Given the description of an element on the screen output the (x, y) to click on. 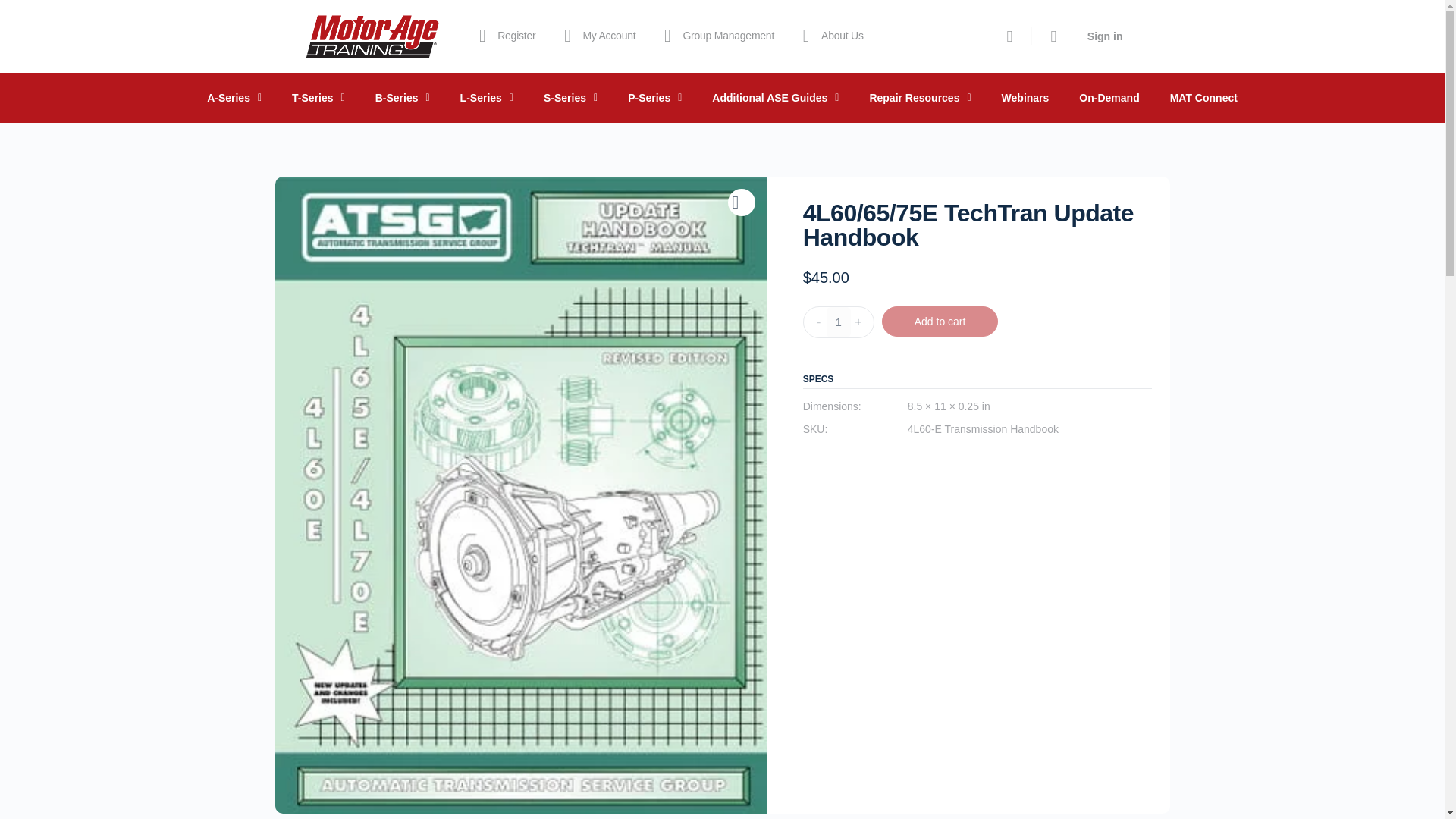
T-Series (317, 97)
Register (504, 36)
A-Series (234, 97)
My Account (596, 36)
Sign in (1105, 36)
Group Management (715, 36)
About Us (829, 36)
